Given the description of an element on the screen output the (x, y) to click on. 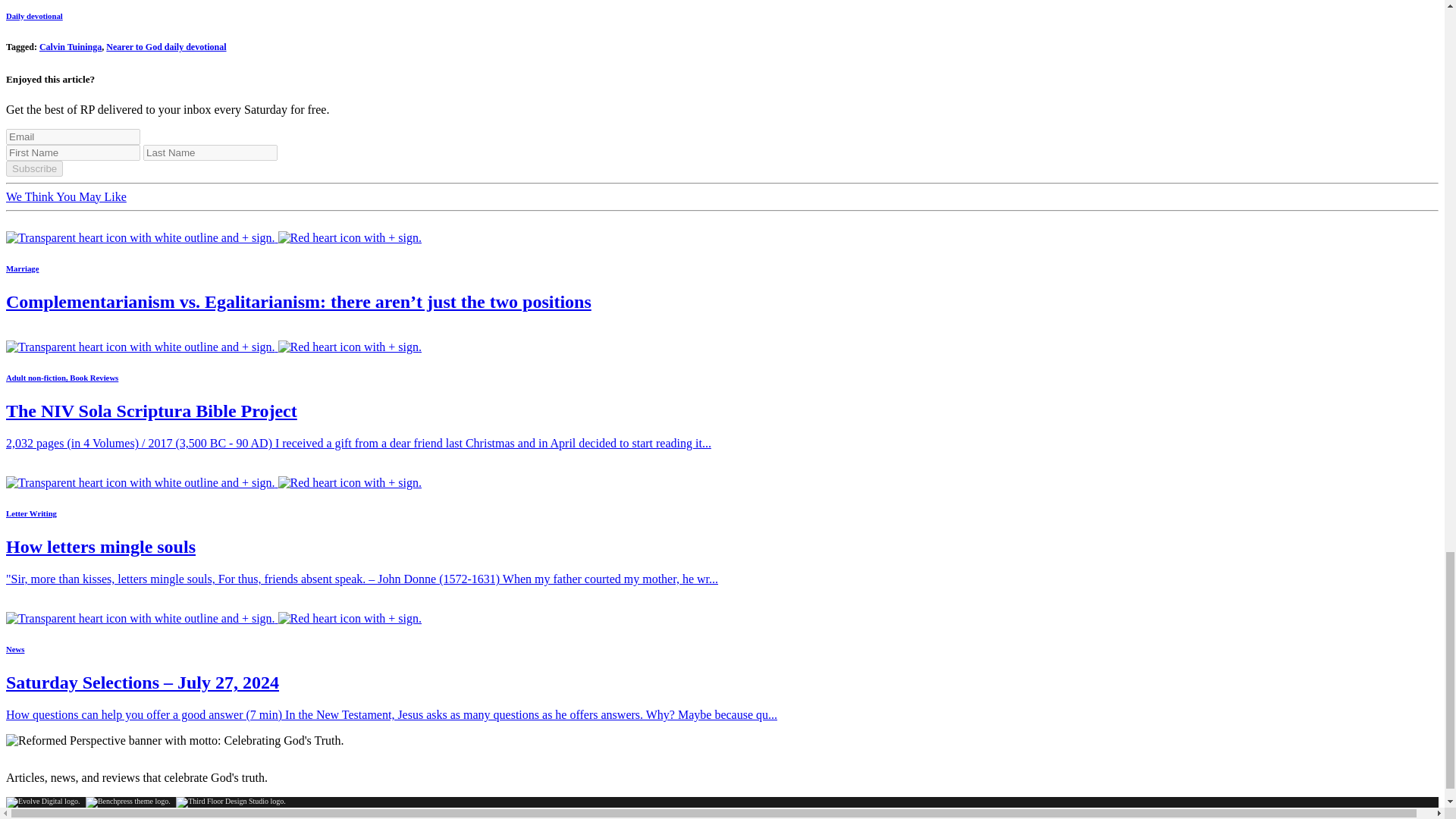
Subscribe to RP (213, 237)
Subscribe to RP (213, 617)
Subscribe (33, 168)
Subscribe to RP (213, 346)
Subscribe to RP (213, 481)
